Given the description of an element on the screen output the (x, y) to click on. 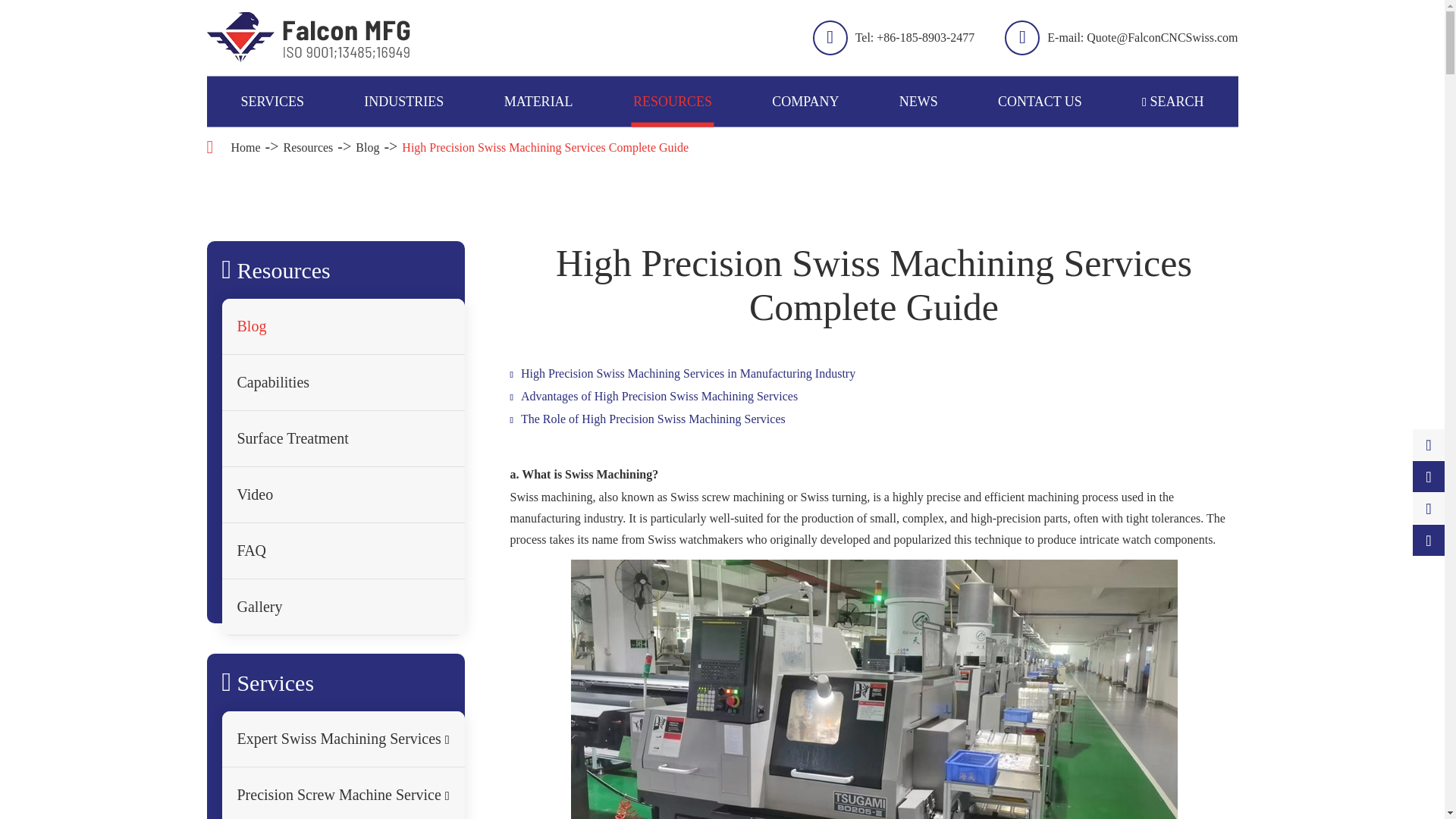
Aluminum Machining (590, 144)
Blog (366, 146)
RESOURCES (672, 101)
NEWS (918, 101)
Company News (967, 144)
High Precision Swiss Machining Services Complete Guide (544, 146)
MATERIAL (538, 101)
INDUSTRIES (404, 101)
Resources (308, 146)
Falcon MFG Co., Ltd. (307, 37)
SERVICES (272, 101)
COMPANY (804, 101)
Medical Machining (462, 144)
CONTACT US (1039, 101)
Blog (701, 144)
